Given the description of an element on the screen output the (x, y) to click on. 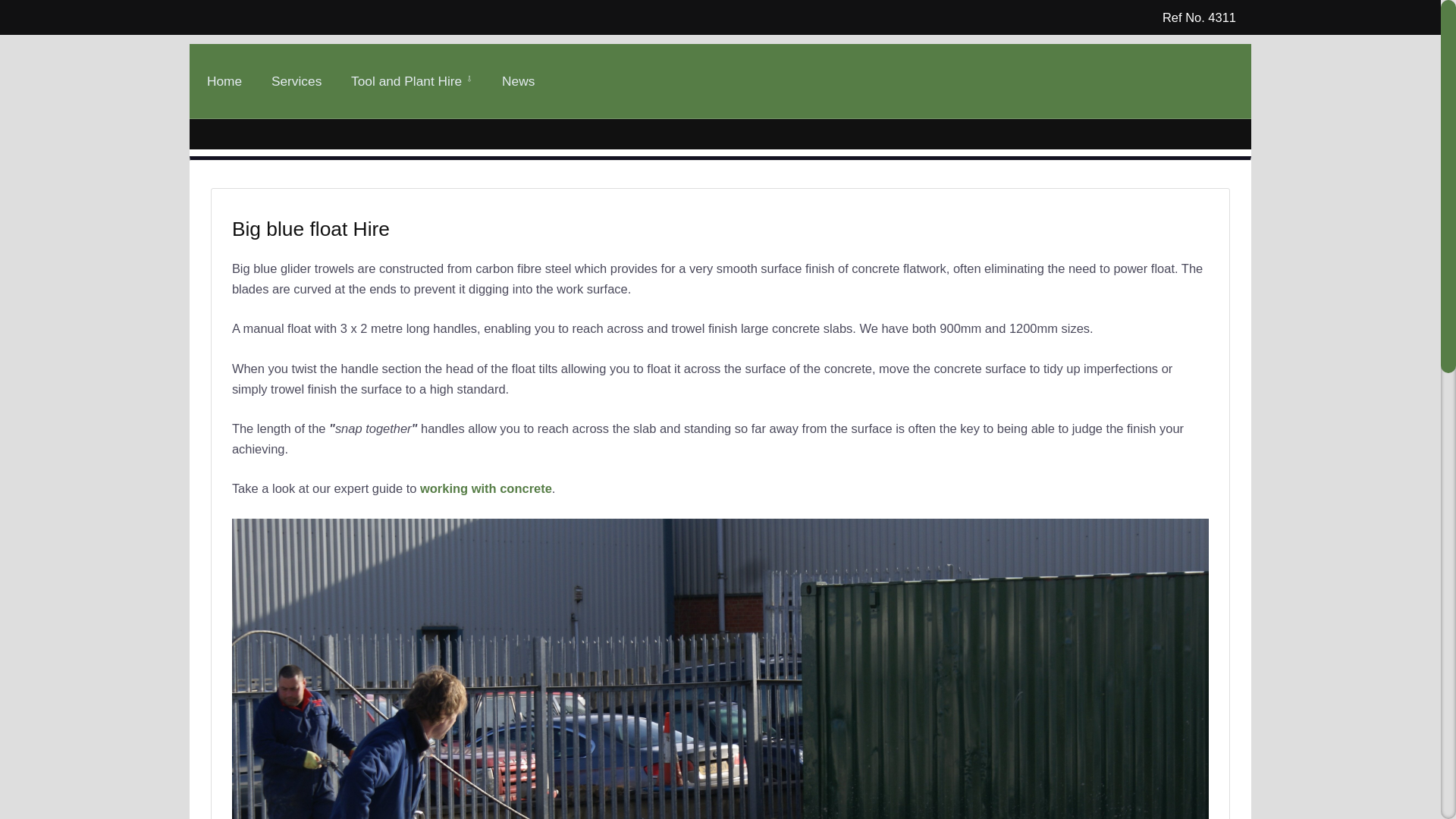
News (518, 81)
Tool and Plant Hire (411, 81)
Home (224, 81)
Services (296, 81)
working with concrete (485, 488)
